Given the description of an element on the screen output the (x, y) to click on. 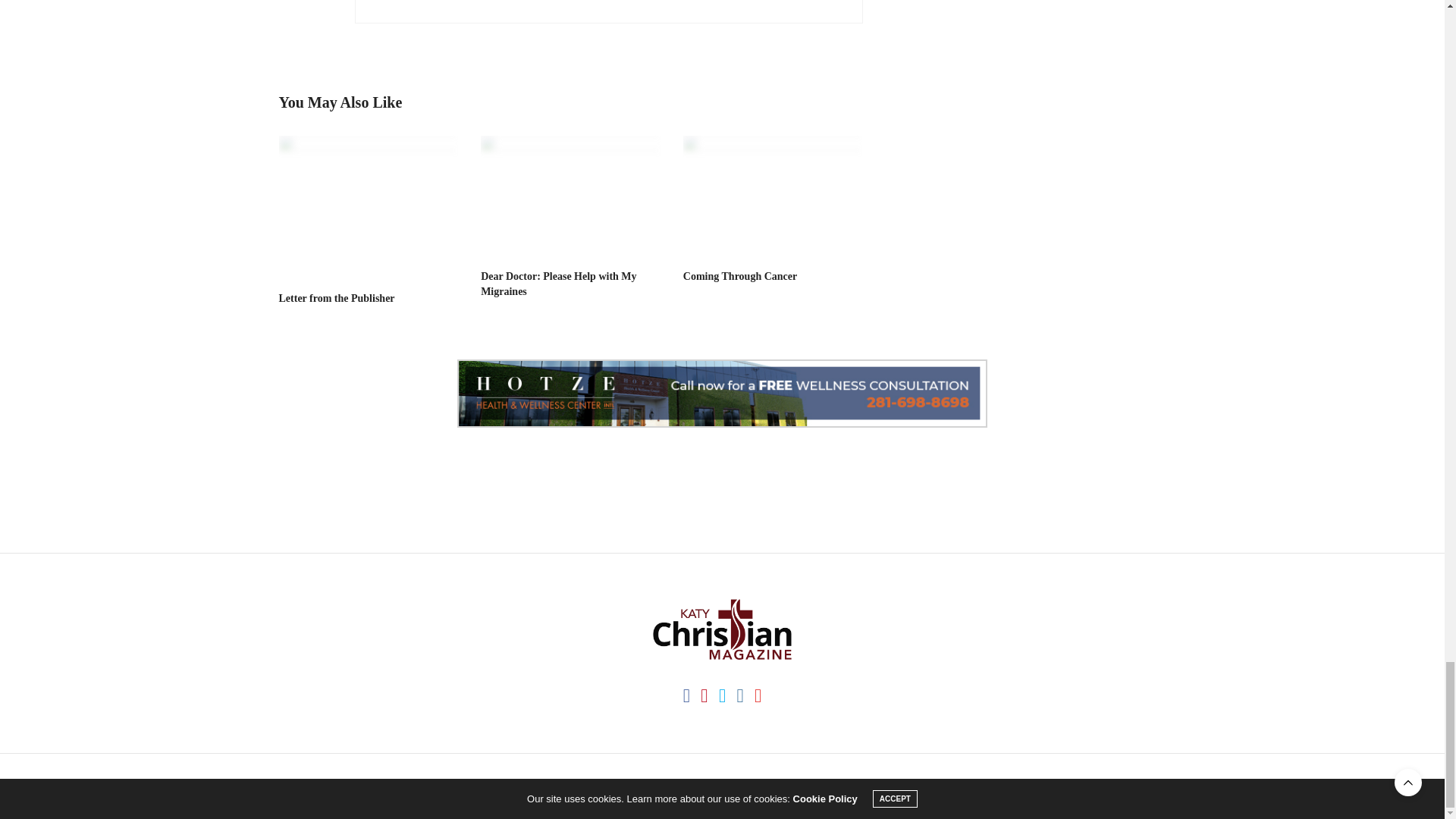
Letter from the Publisher (336, 297)
Letter from the Publisher (368, 205)
Dear Doctor: Please Help with My Migraines (558, 284)
Coming Through Cancer (739, 276)
Dear Doctor: Please Help with My Migraines (570, 195)
Coming Through Cancer (772, 195)
Katy Christian Magazine (722, 629)
